Given the description of an element on the screen output the (x, y) to click on. 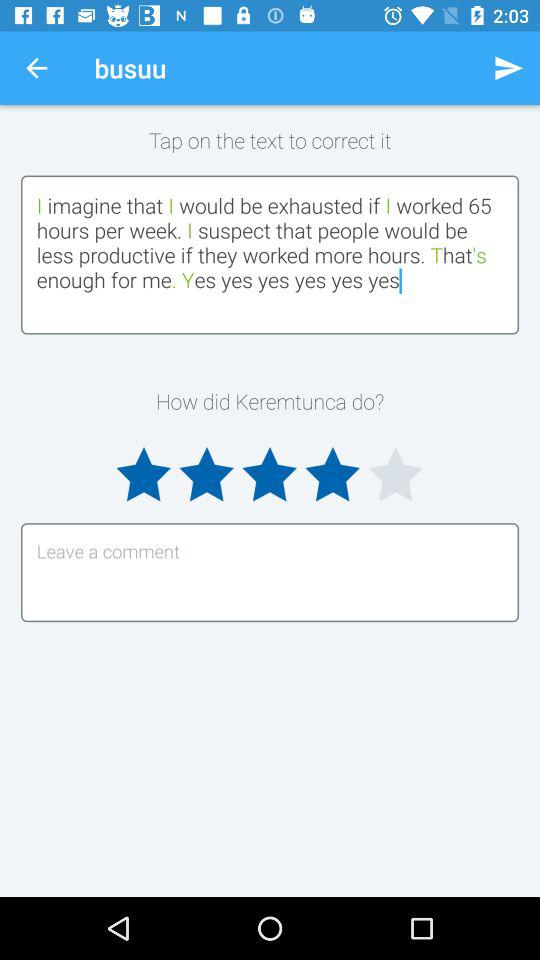
turn off item above how did keremtunca icon (270, 254)
